Given the description of an element on the screen output the (x, y) to click on. 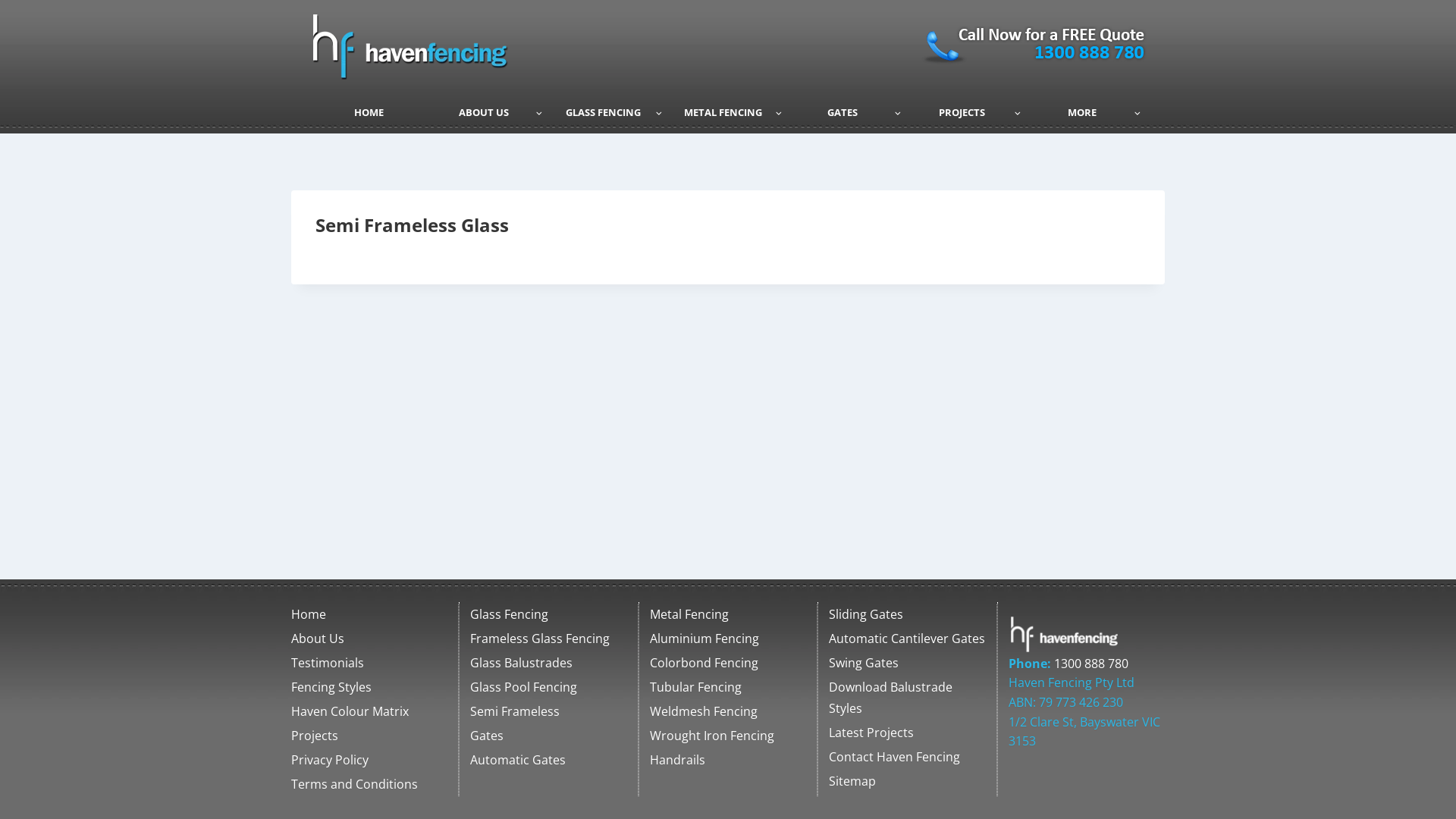
Glass Fencing Element type: text (548, 614)
Swing Gates Element type: text (906, 662)
Automatic Gates Element type: text (548, 759)
ABOUT US Element type: text (489, 111)
Gates Element type: text (548, 735)
Glass Pool Fencing Element type: text (548, 686)
About Us Element type: text (369, 638)
Weldmesh Fencing Element type: text (727, 711)
Testimonials Element type: text (369, 662)
Semi Frameless Element type: text (548, 711)
Sitemap Element type: text (906, 781)
METAL FENCING Element type: text (727, 111)
Haven Colour Matrix Element type: text (369, 711)
1300 888 780 Element type: text (1091, 663)
Colorbond Fencing Element type: text (727, 662)
Latest Projects Element type: text (906, 733)
Frameless Glass Fencing Element type: text (548, 638)
Privacy Policy Element type: text (369, 759)
Handrails Element type: text (727, 759)
Contact Haven Fencing Element type: text (906, 757)
Download Balustrade Styles Element type: text (906, 697)
PROJECTS Element type: text (967, 111)
Sliding Gates Element type: text (906, 614)
Aluminium Fencing Element type: text (727, 638)
Projects Element type: text (369, 735)
HOME Element type: text (369, 111)
Metal Fencing Element type: text (727, 614)
Glass Balustrades Element type: text (548, 662)
Fencing Styles Element type: text (369, 686)
Wrought Iron Fencing Element type: text (727, 735)
GATES Element type: text (847, 111)
Home Element type: text (369, 614)
Terms and Conditions Element type: text (369, 783)
MORE Element type: text (1086, 111)
Tubular Fencing Element type: text (727, 686)
Automatic Cantilever Gates Element type: text (906, 638)
GLASS FENCING Element type: text (608, 111)
